Given the description of an element on the screen output the (x, y) to click on. 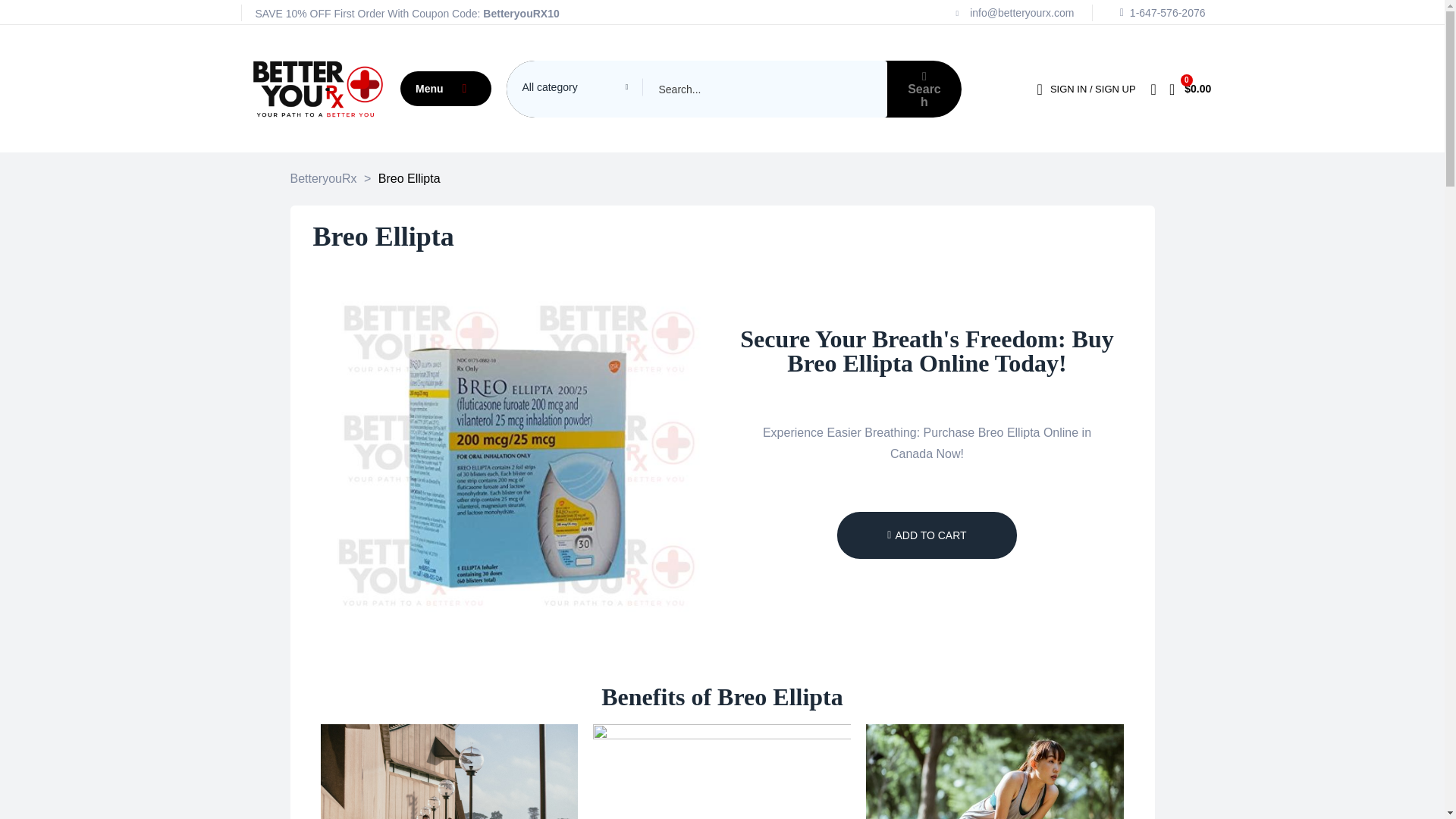
All category (574, 87)
Go to BetteryouRx. (322, 178)
Search (696, 88)
All category (574, 87)
